Given the description of an element on the screen output the (x, y) to click on. 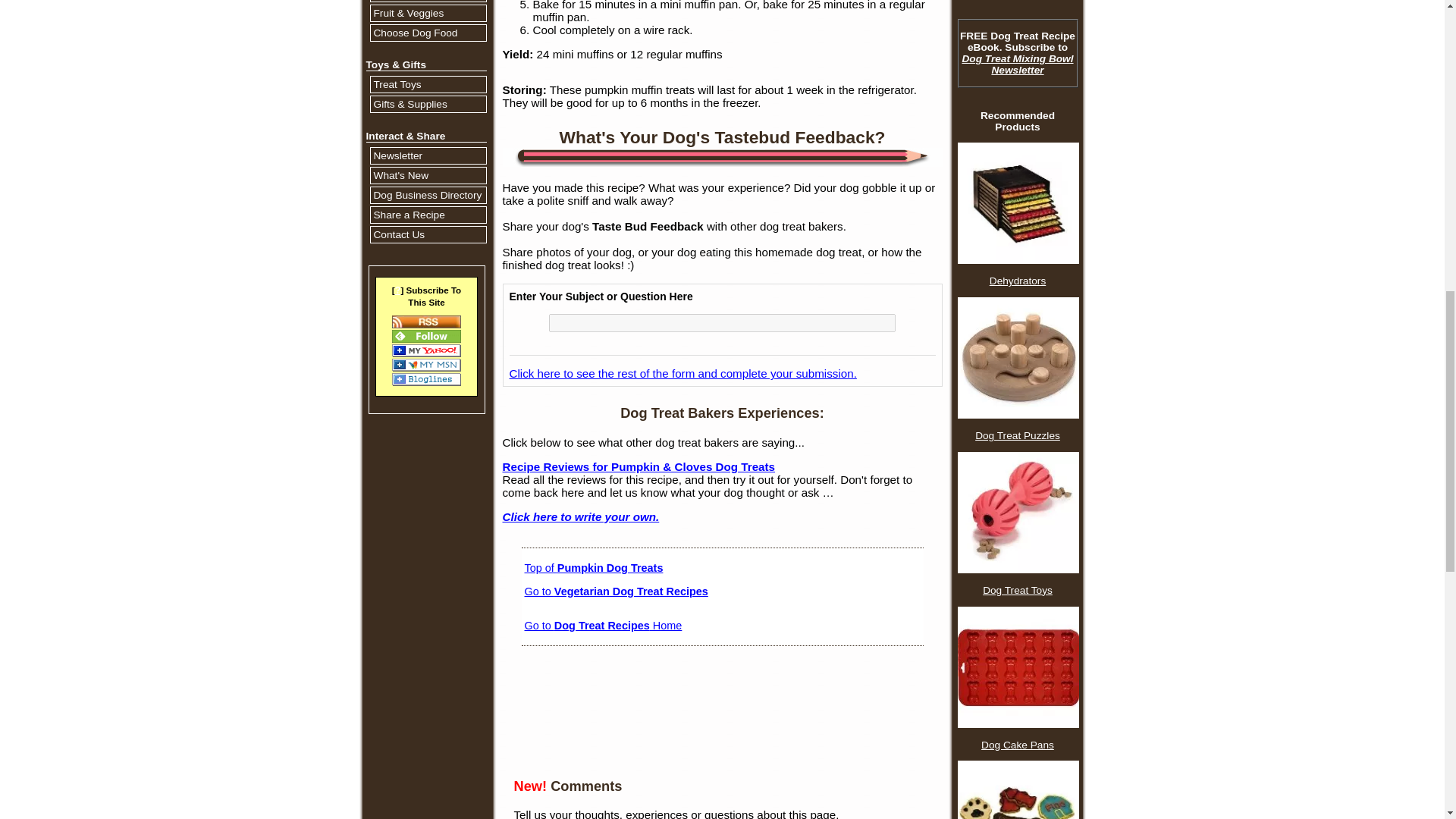
Go to Dog Treat Recipes Home (603, 625)
Top of Pumpkin Dog Treats (593, 567)
Go to Vegetarian Dog Treat Recipes (615, 591)
Click here to write your own. (580, 516)
